Given the description of an element on the screen output the (x, y) to click on. 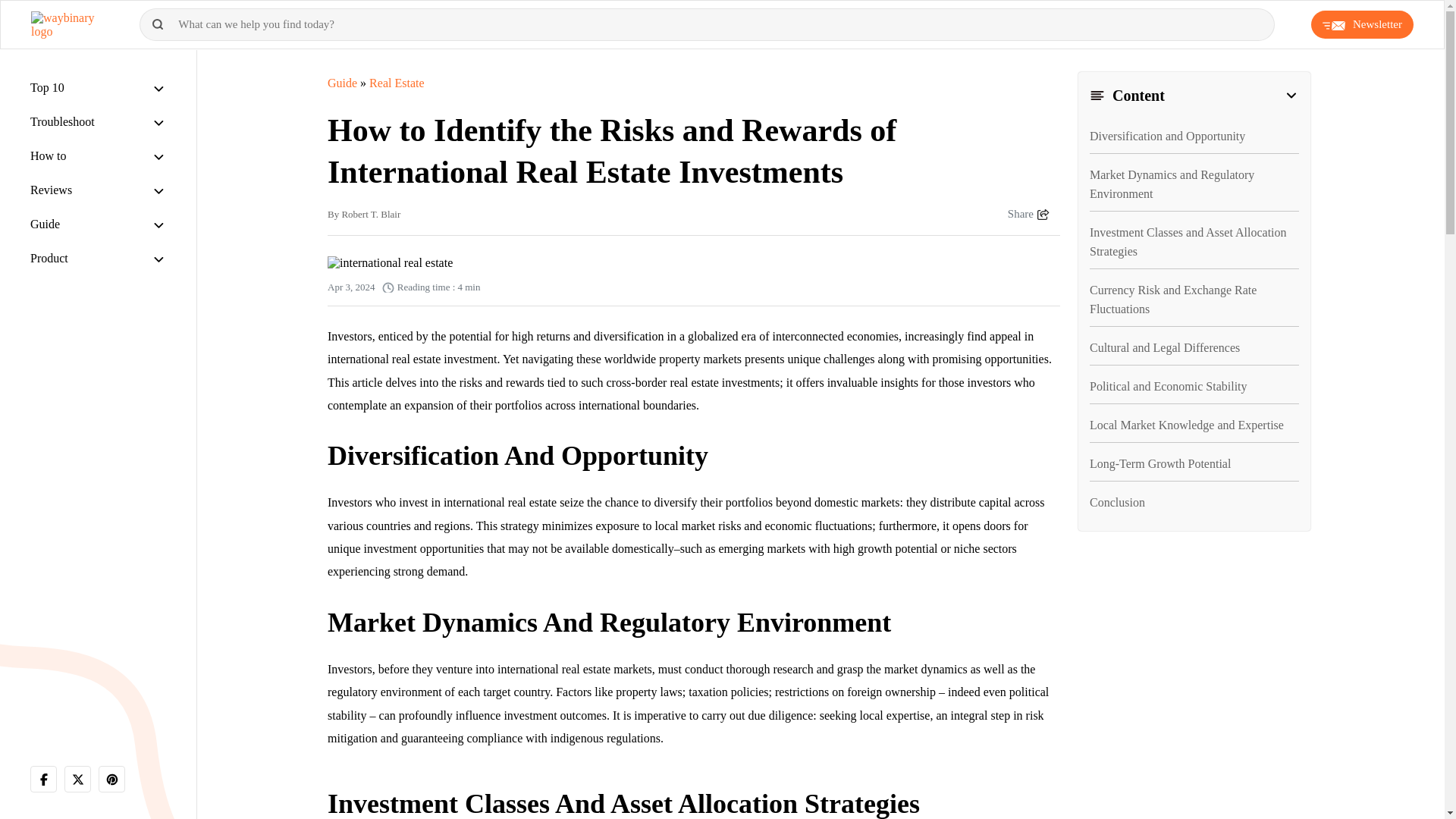
How to (48, 155)
Top 10 (47, 87)
Newsletter (1362, 24)
Guide (44, 223)
Troubleshoot (62, 121)
Reviews (50, 189)
Search for: (707, 24)
How to (48, 155)
Troubleshoot (62, 121)
Top 10 (47, 87)
